Given the description of an element on the screen output the (x, y) to click on. 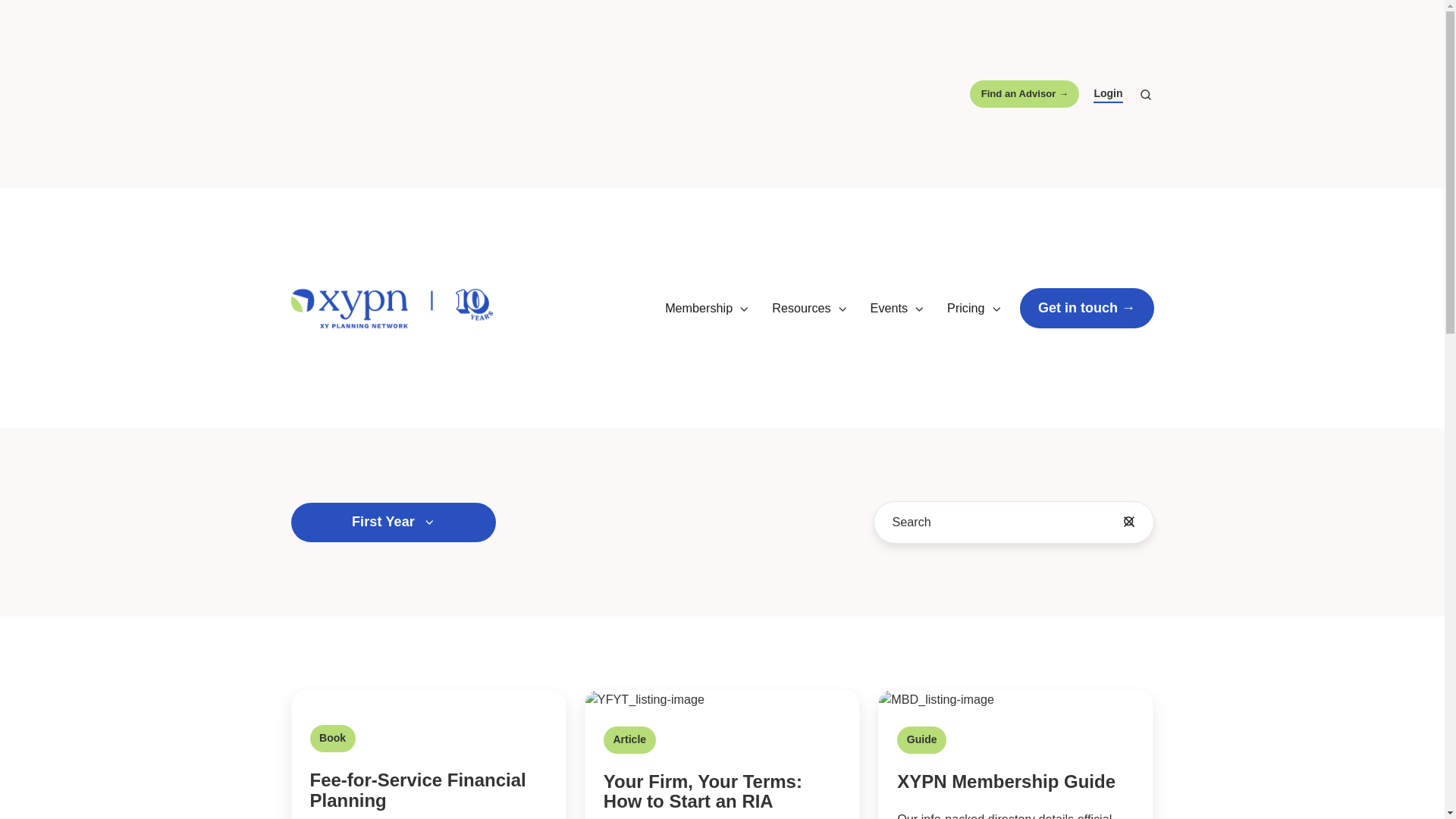
Resources (809, 307)
Membership (707, 307)
Pricing (974, 307)
Events (897, 307)
Login (1107, 94)
